Given the description of an element on the screen output the (x, y) to click on. 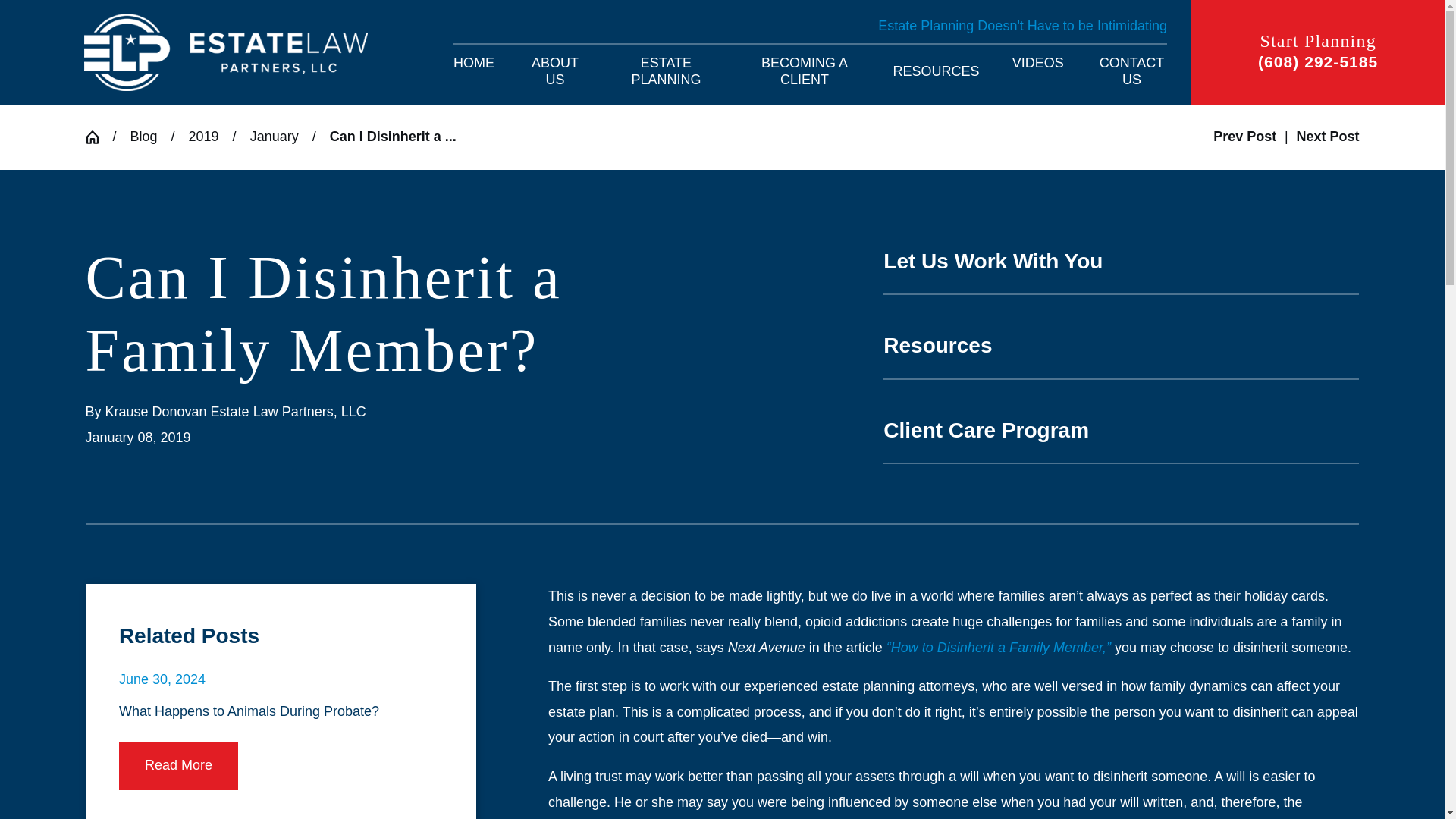
Open the accessibility options menu (1412, 786)
ESTATE PLANNING (665, 72)
RESOURCES (936, 71)
Estate Law Partners, LLC (226, 51)
Go Home (98, 137)
ABOUT US (555, 72)
BECOMING A CLIENT (804, 72)
